Given the description of an element on the screen output the (x, y) to click on. 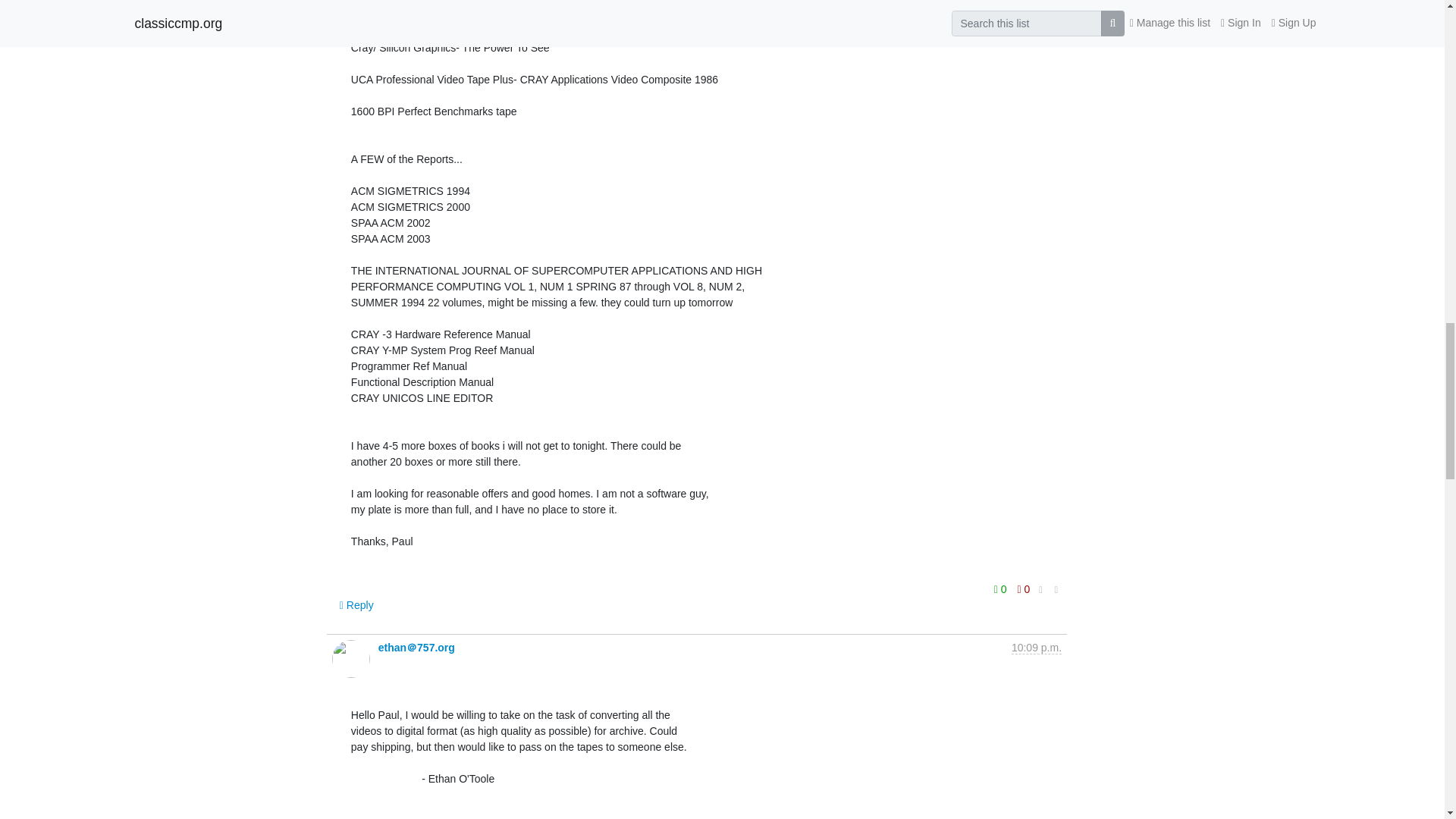
You must be logged-in to vote. (1023, 588)
You must be logged-in to vote. (1001, 588)
Sign in to reply online (356, 605)
